Given the description of an element on the screen output the (x, y) to click on. 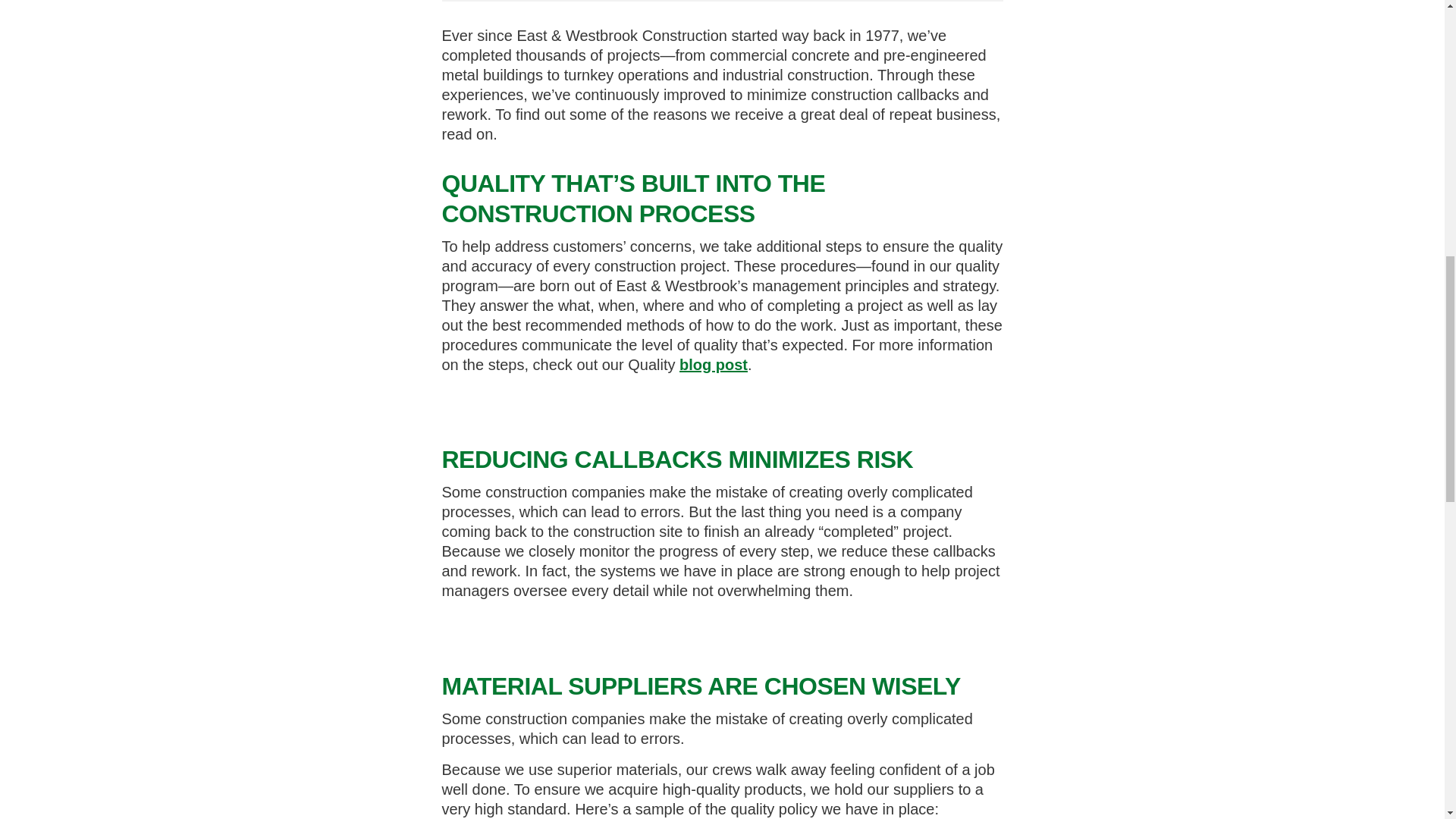
blog post (713, 364)
